Given the description of an element on the screen output the (x, y) to click on. 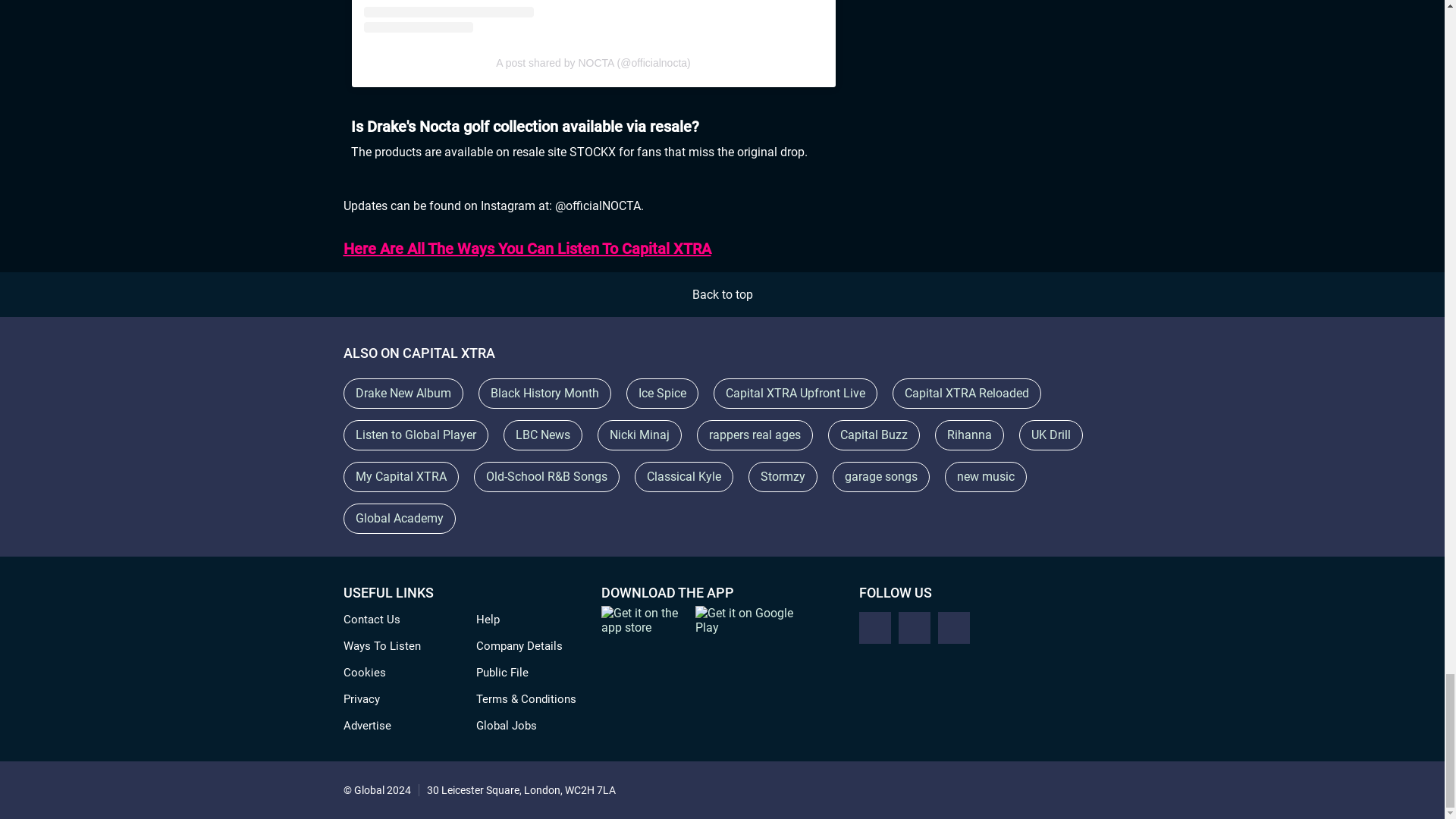
Follow CapitalXtra on Instagram (914, 627)
Back to top (721, 294)
Follow CapitalXtra on Youtube (953, 627)
Follow CapitalXtra on Facebook (874, 627)
